Given the description of an element on the screen output the (x, y) to click on. 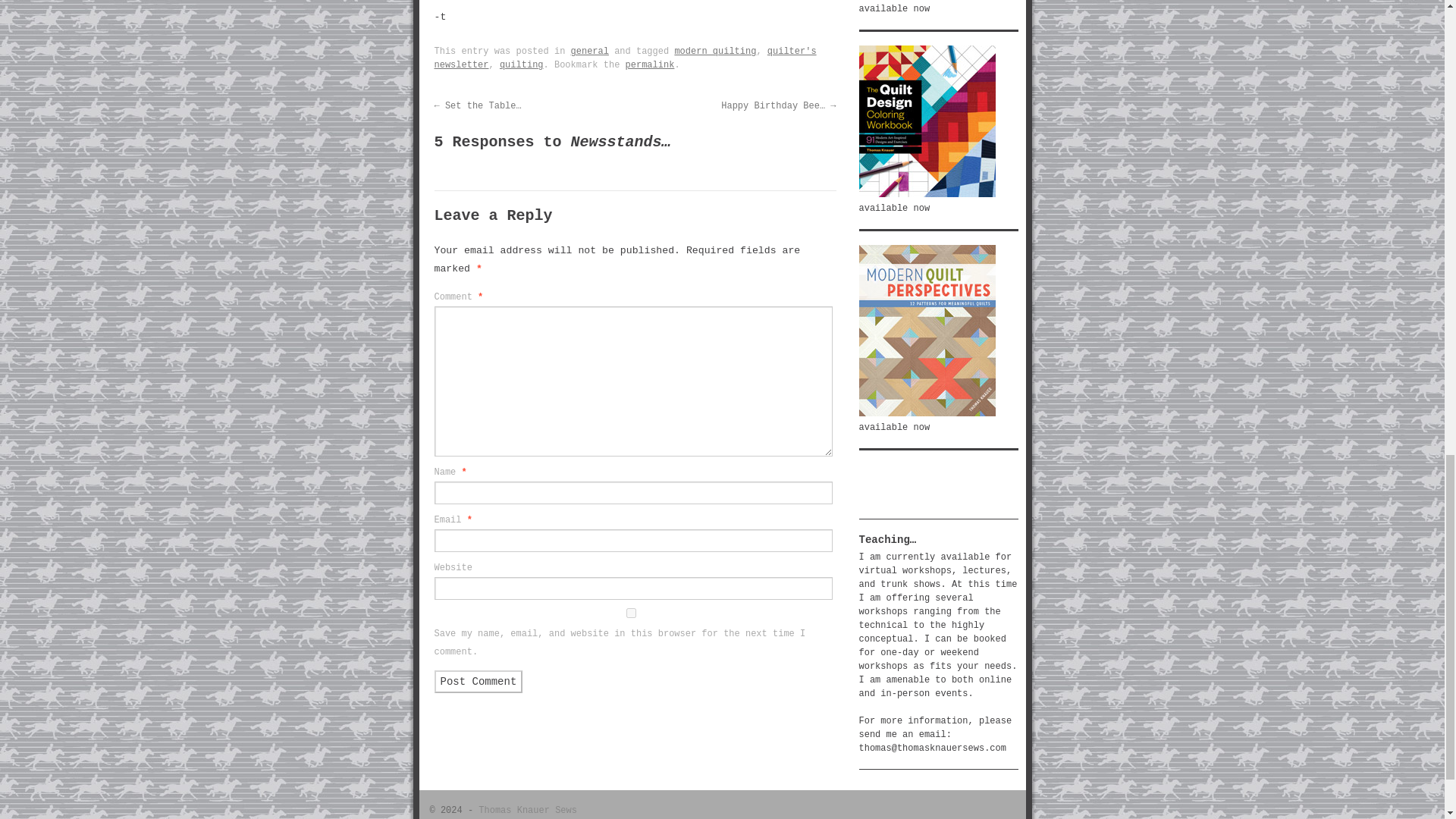
Post Comment (477, 681)
general (589, 50)
Thomas Knauer Sews (527, 810)
Post Comment (477, 681)
quilting (521, 64)
yes (630, 613)
Thomas Knauer Sews (527, 810)
modern quilting (714, 50)
permalink (650, 64)
quilter's newsletter (624, 57)
